Given the description of an element on the screen output the (x, y) to click on. 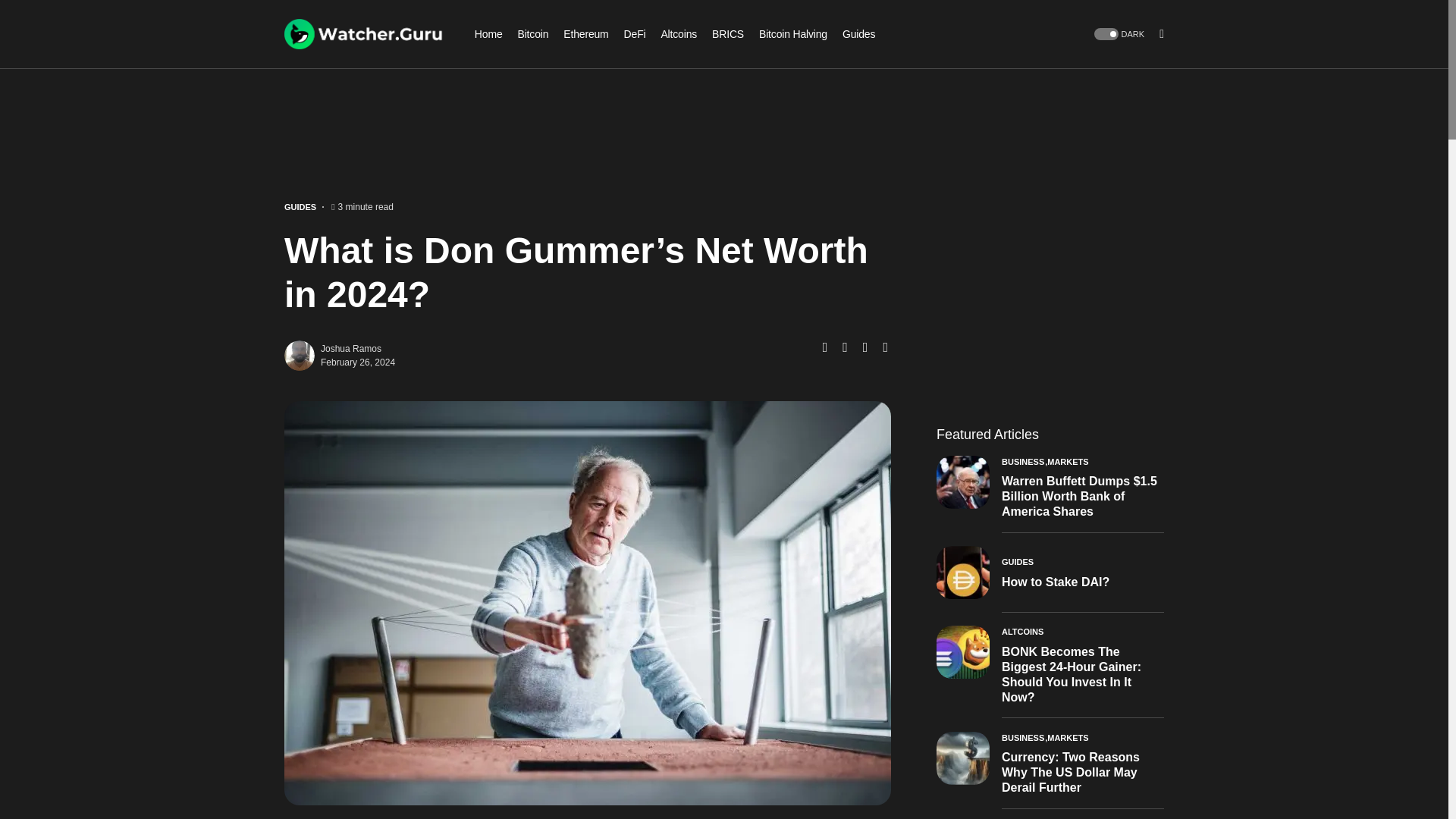
Bitcoin Halving (792, 33)
